Given the description of an element on the screen output the (x, y) to click on. 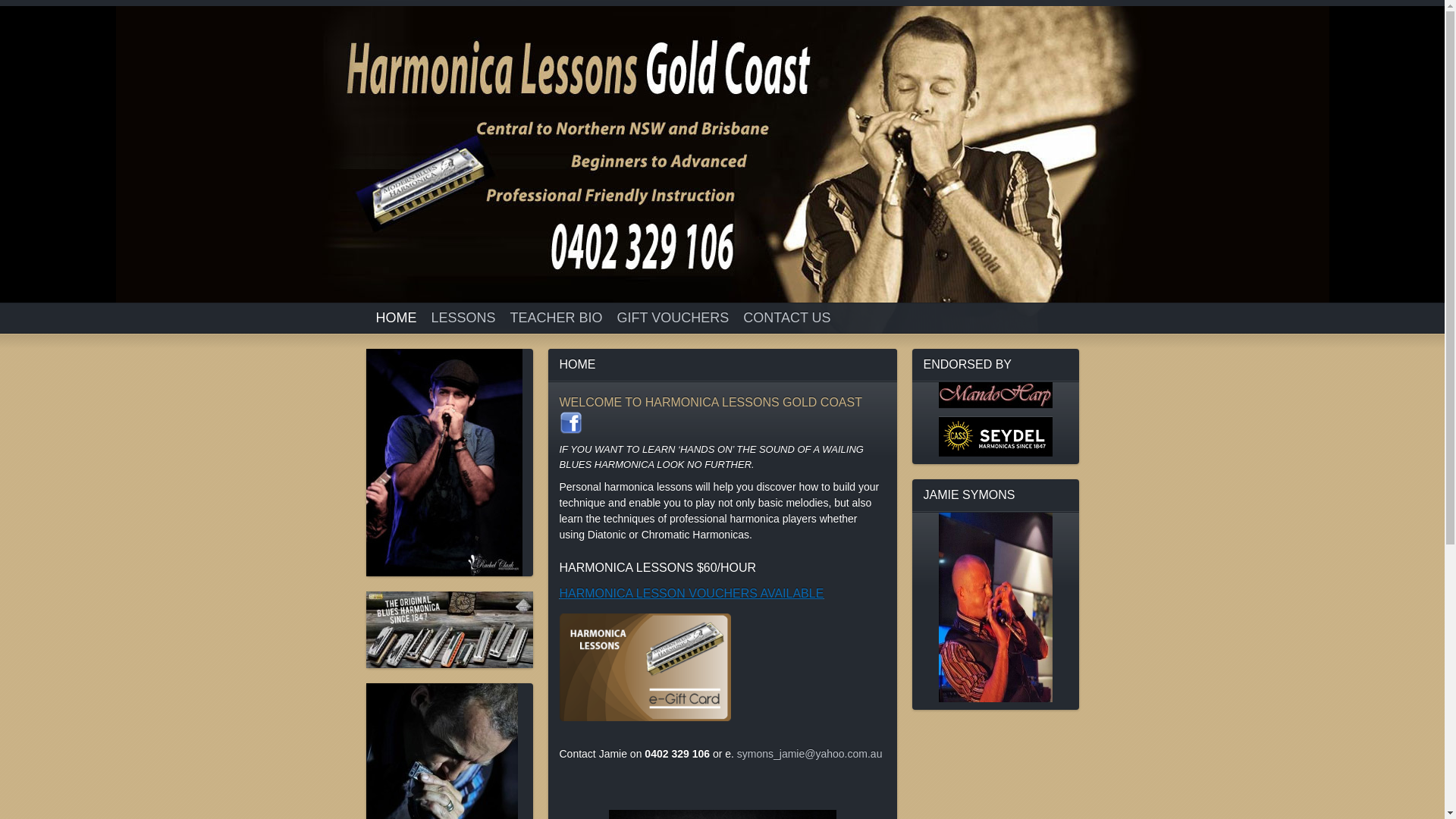
GIFT VOUCHERS Element type: text (673, 317)
LESSONS Element type: text (462, 317)
HARMONICA LESSON VOUCHERS AVAILABLE Element type: text (691, 592)
HOME Element type: text (396, 317)
CONTACT US Element type: text (786, 317)
TEACHER BIO Element type: text (556, 317)
symons_jamie@yahoo.com.au Element type: text (809, 753)
